Given the description of an element on the screen output the (x, y) to click on. 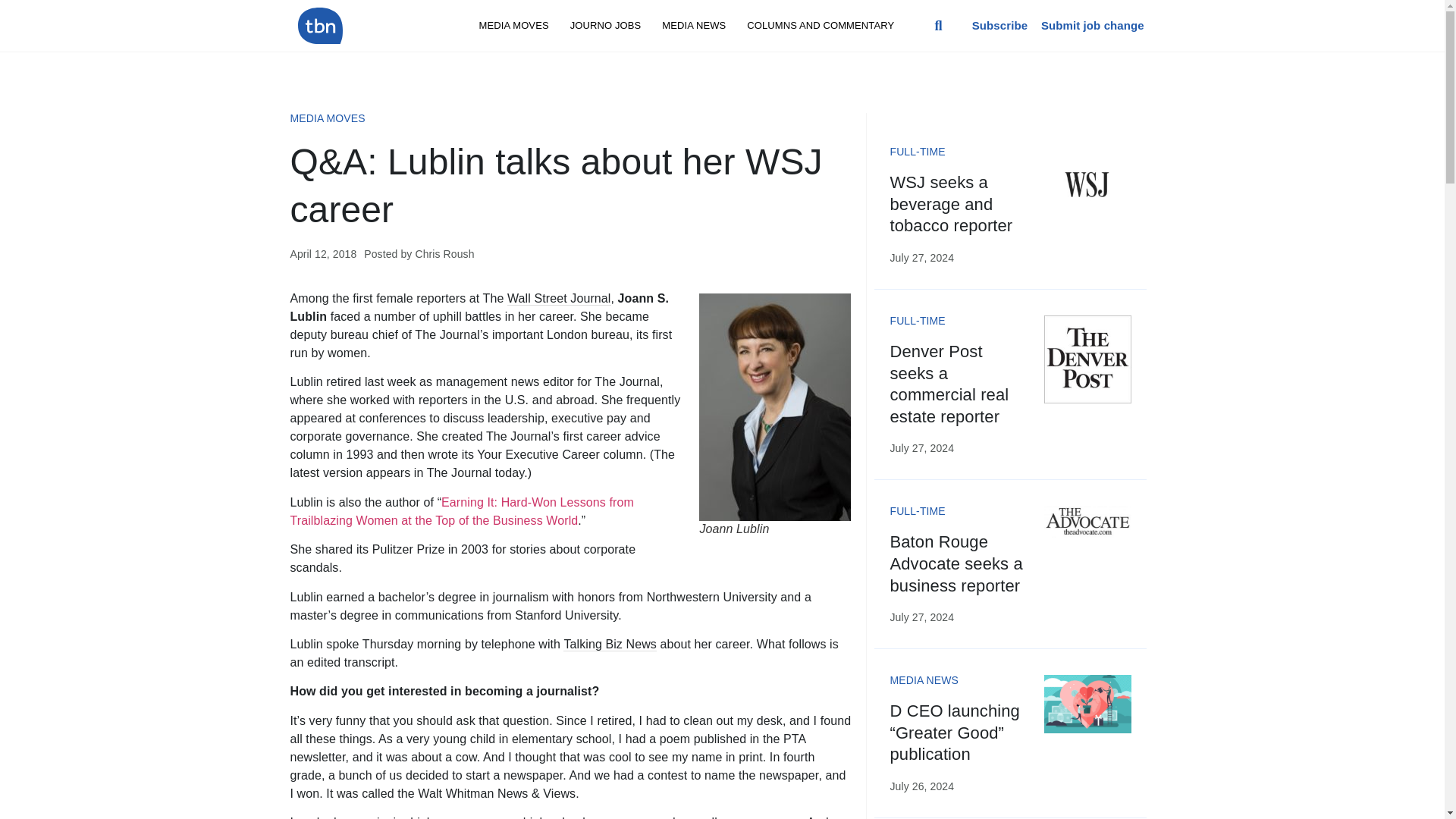
Submit job change (1092, 25)
FULL-TIME (916, 151)
Wall Street Journal (558, 298)
July 27, 2024 (921, 616)
July 27, 2024 (921, 448)
MEDIA MOVES (513, 25)
MEDIA NEWS (693, 25)
MEDIA NEWS (923, 680)
Denver Post seeks a commercial real estate reporter (949, 383)
FULL-TIME (916, 320)
WSJ seeks a beverage and tobacco reporter (950, 203)
JOURNO JOBS (605, 25)
Subscribe (999, 25)
July 27, 2024 (921, 257)
